Given the description of an element on the screen output the (x, y) to click on. 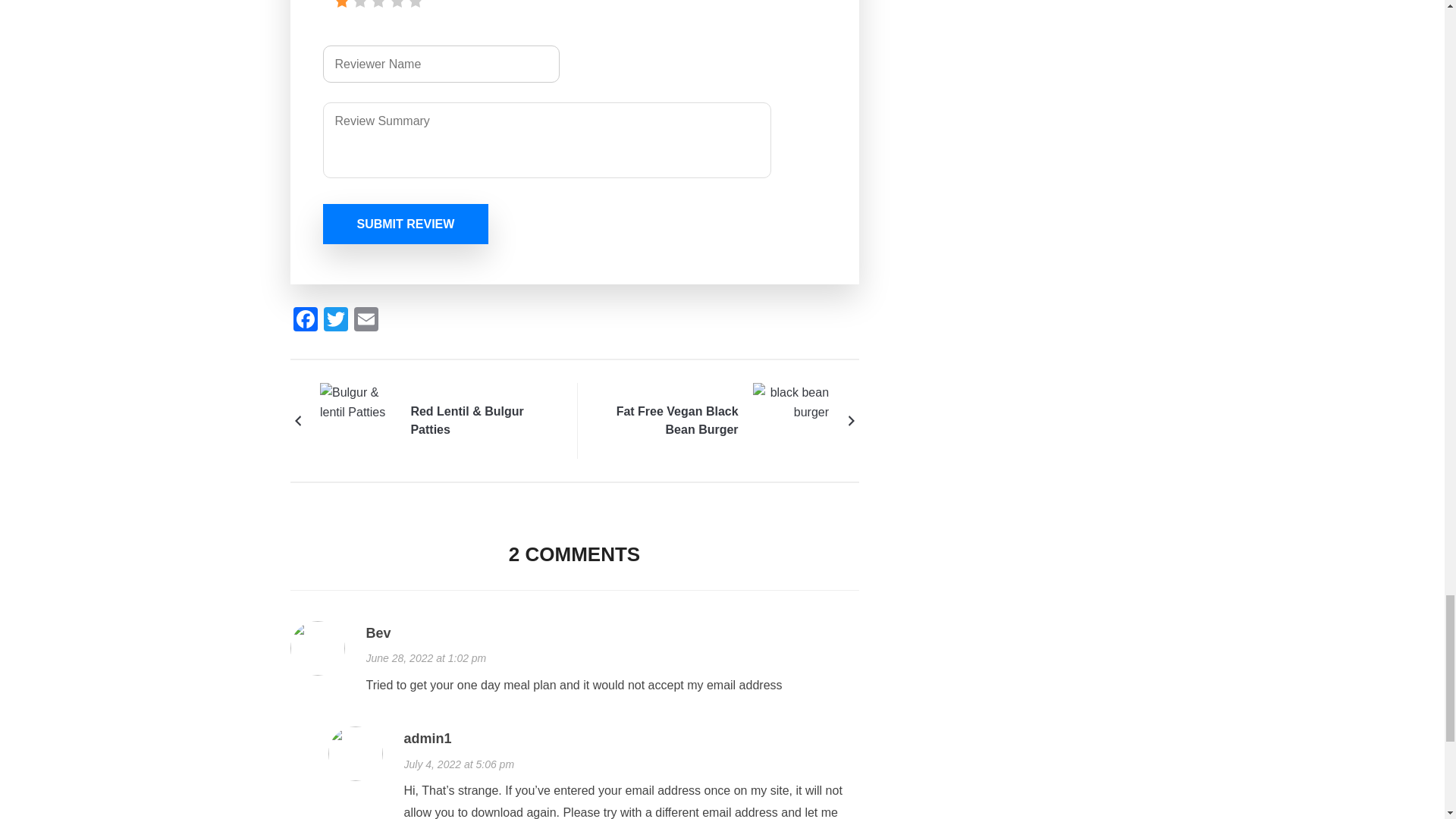
Facebook (304, 320)
Fat Free Vegan Black Bean Burger (790, 420)
Fat Free Vegan Black Bean Burger (667, 420)
Email (365, 320)
Twitter (335, 320)
